Given the description of an element on the screen output the (x, y) to click on. 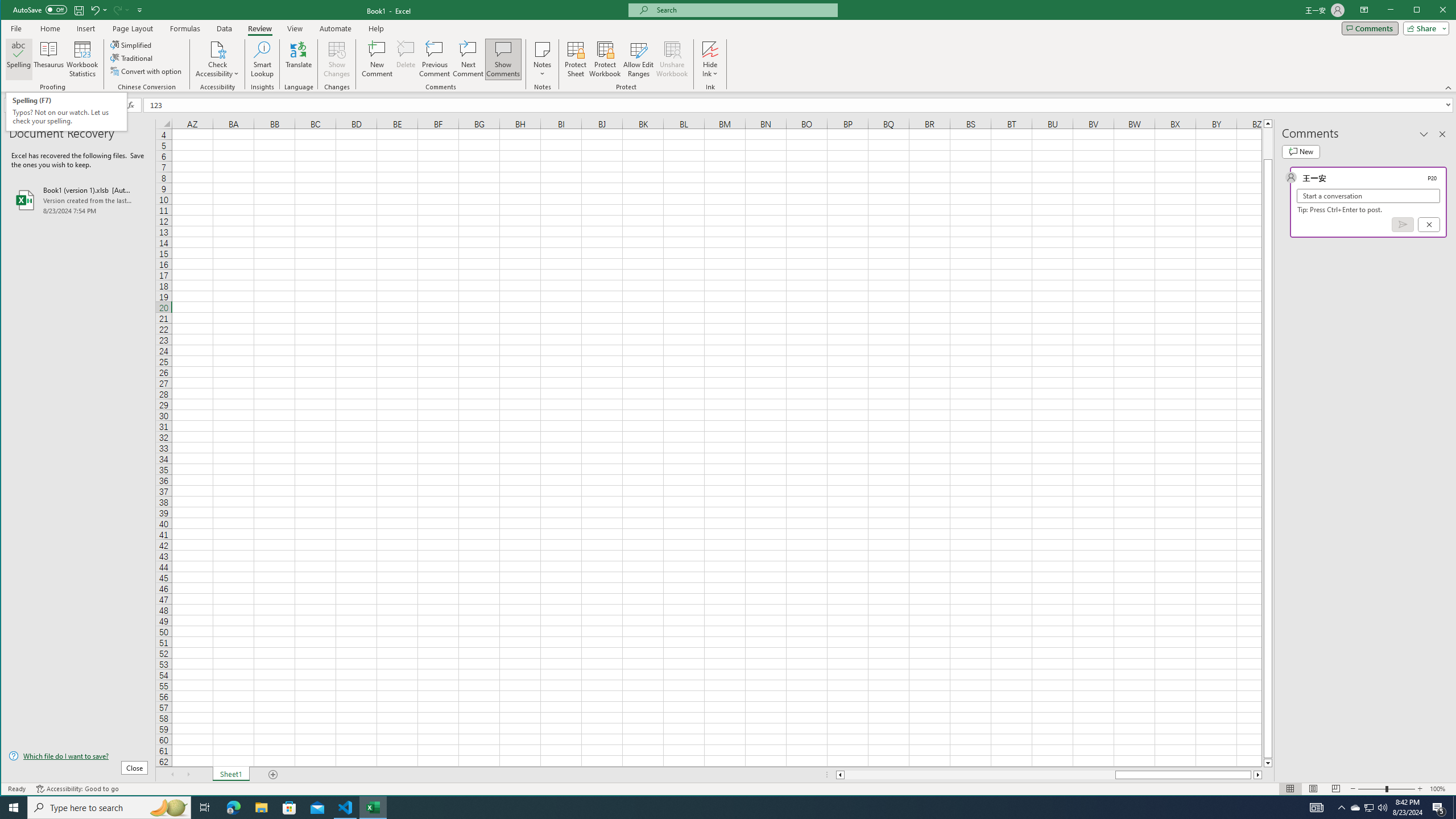
Hide Ink (710, 59)
Cancel (1428, 224)
New comment (1300, 151)
Translate (298, 59)
Allow Edit Ranges (638, 59)
Running applications (717, 807)
Task View (204, 807)
Visual Studio Code - 1 running window (345, 807)
Convert with option (146, 70)
